Given the description of an element on the screen output the (x, y) to click on. 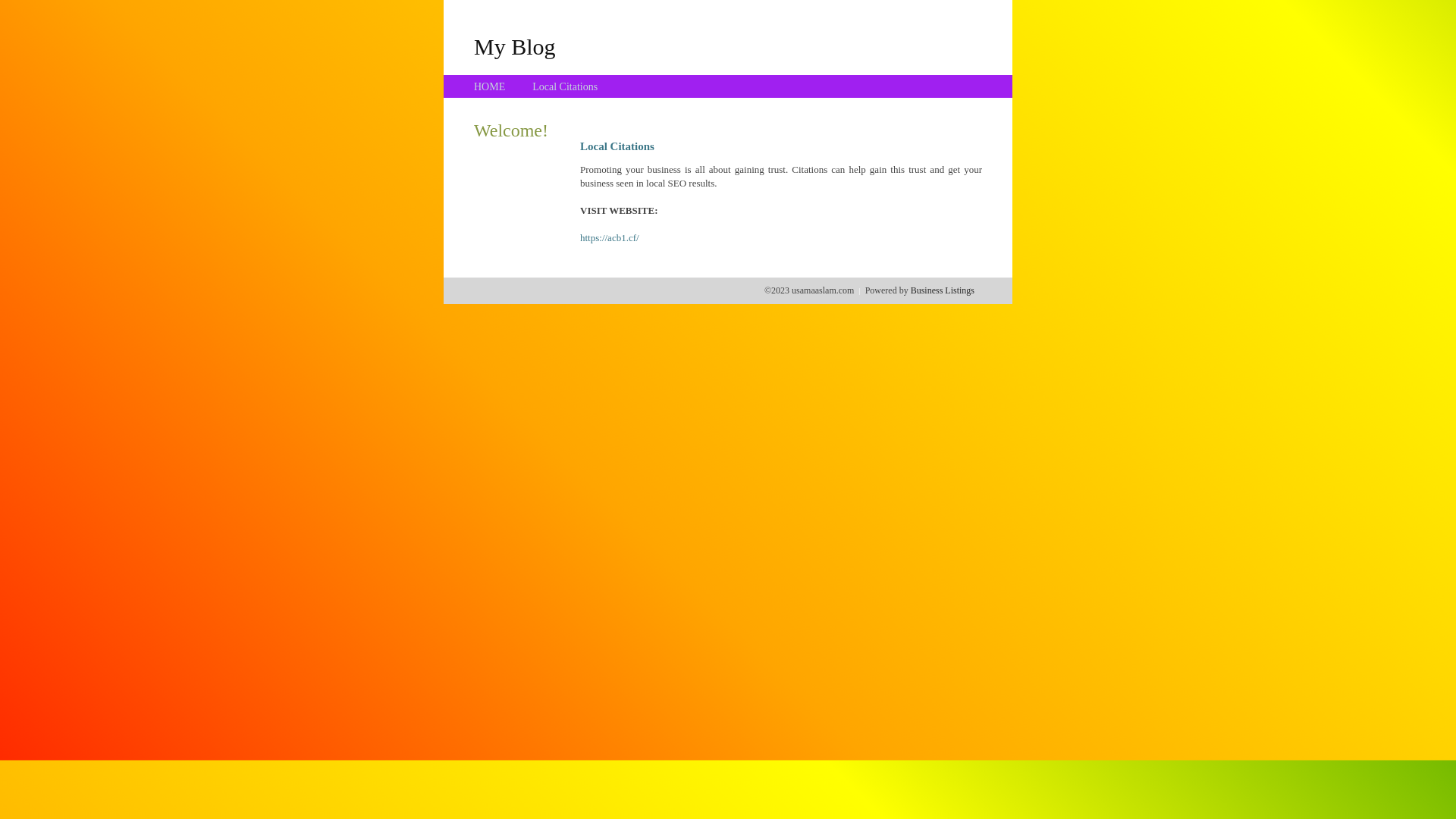
Business Listings Element type: text (942, 290)
Local Citations Element type: text (564, 86)
HOME Element type: text (489, 86)
https://acb1.cf/ Element type: text (609, 237)
My Blog Element type: text (514, 46)
